Given the description of an element on the screen output the (x, y) to click on. 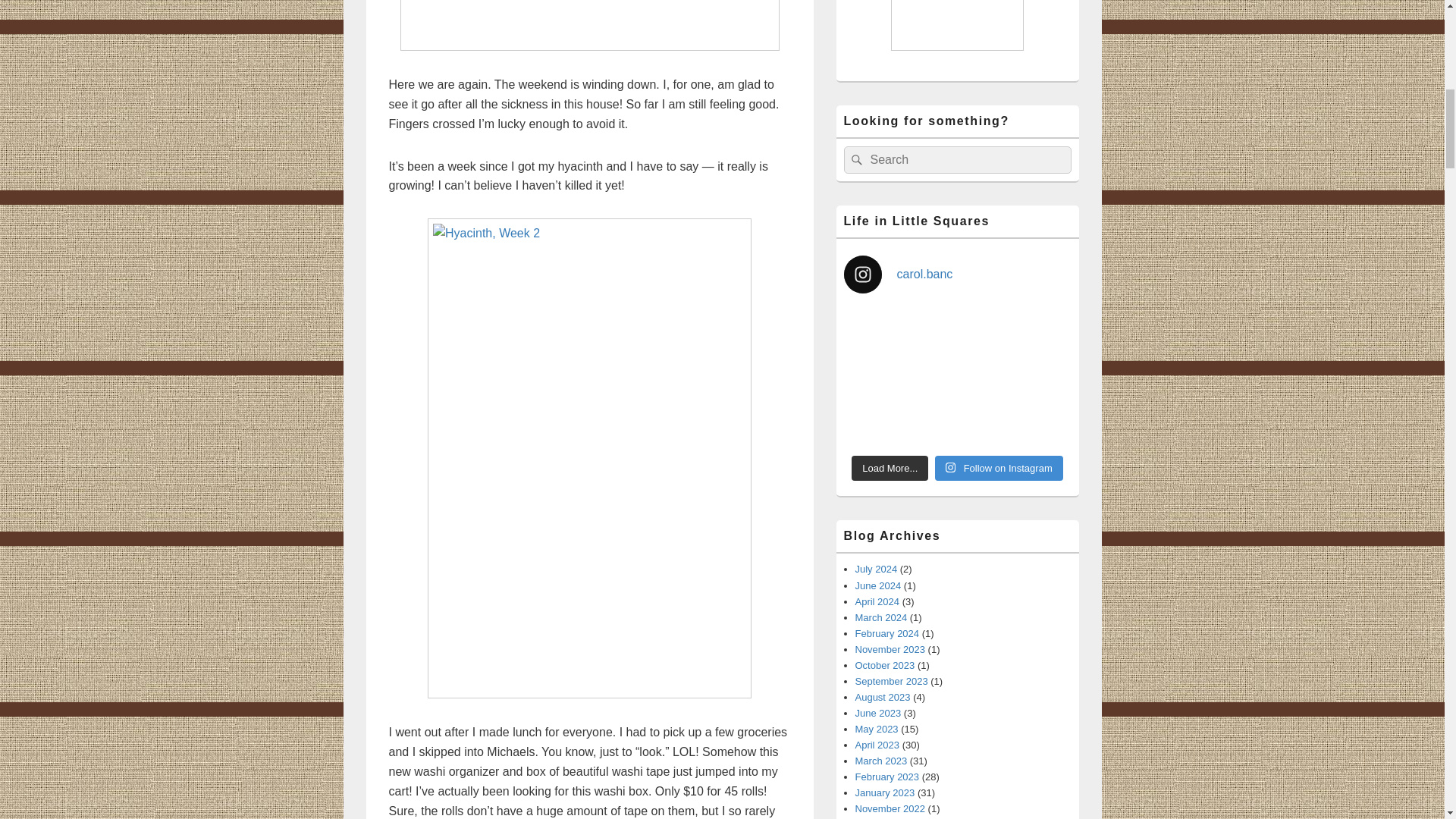
carol.banc (956, 274)
